Given the description of an element on the screen output the (x, y) to click on. 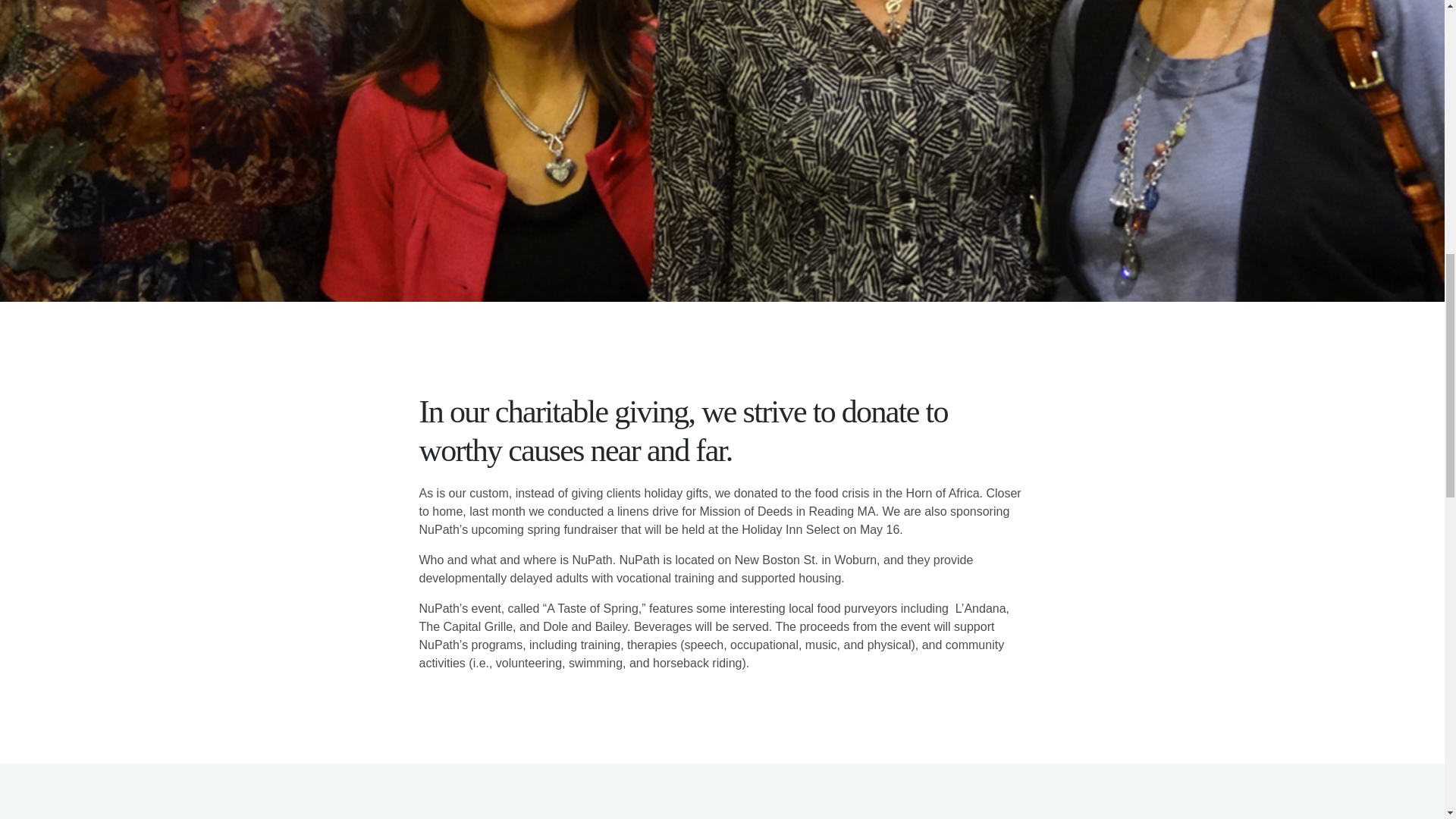
NuPath (591, 560)
